Given the description of an element on the screen output the (x, y) to click on. 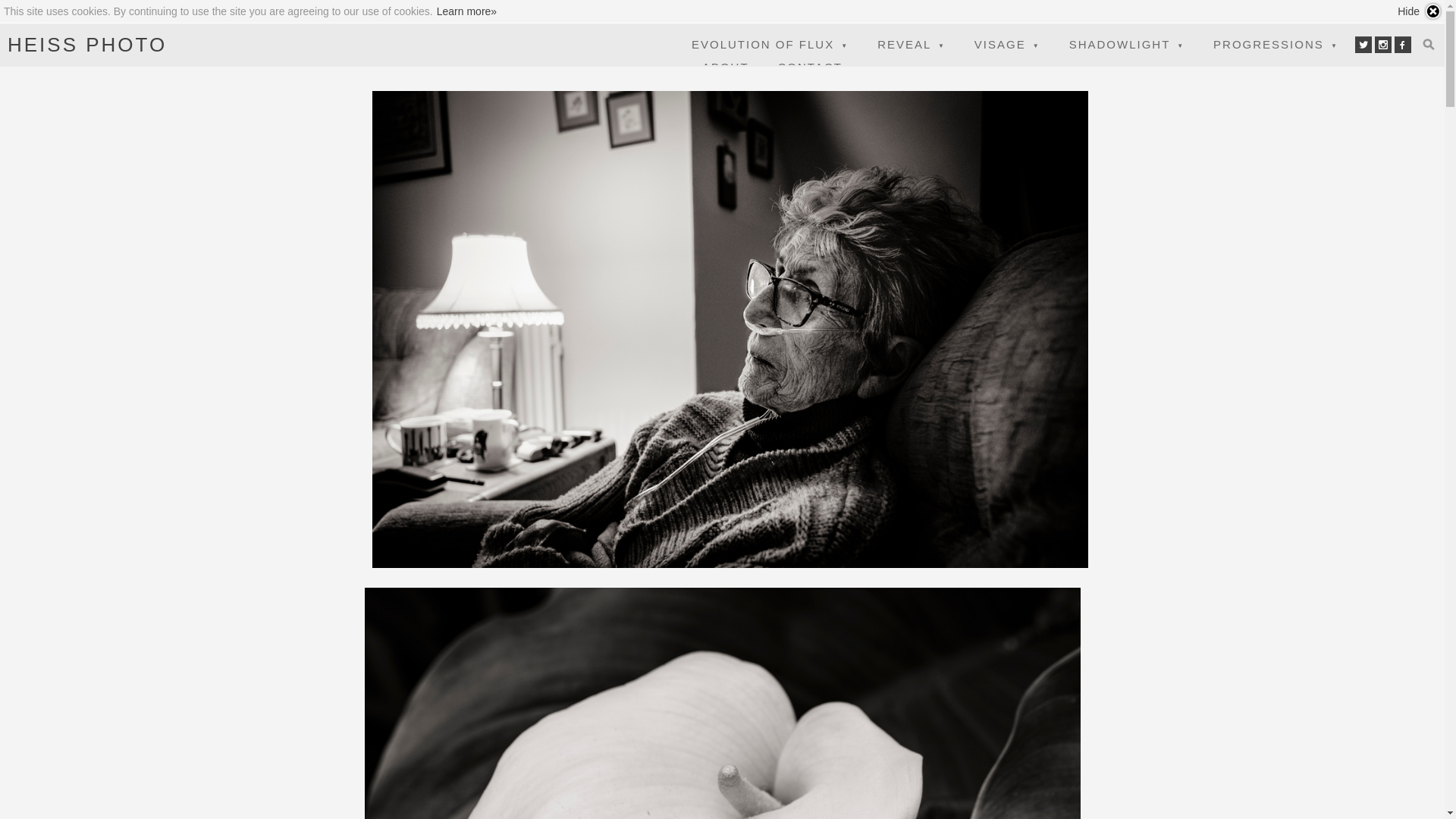
Hide (1419, 11)
Heiss Photo (87, 44)
HEISS PHOTO (87, 44)
